Given the description of an element on the screen output the (x, y) to click on. 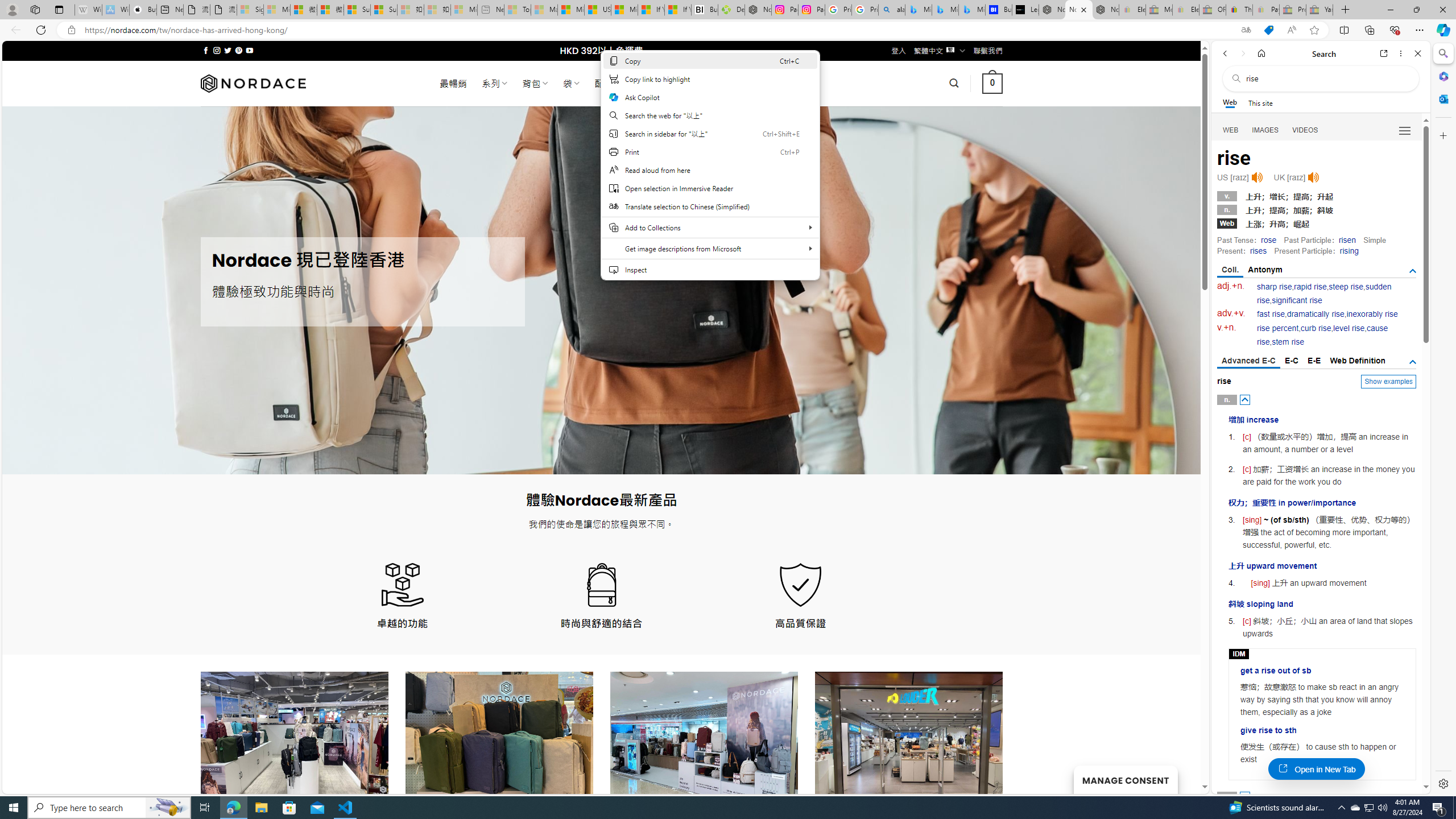
AutomationID: posbtn_0 (1245, 399)
sharp rise (1274, 286)
Microsoft Bing Travel - Flights from Hong Kong to Bangkok (917, 9)
rose (1268, 239)
Payments Terms of Use | eBay.com - Sleeping (1265, 9)
AutomationID: tgdef (1412, 362)
cause rise (1322, 335)
